Given the description of an element on the screen output the (x, y) to click on. 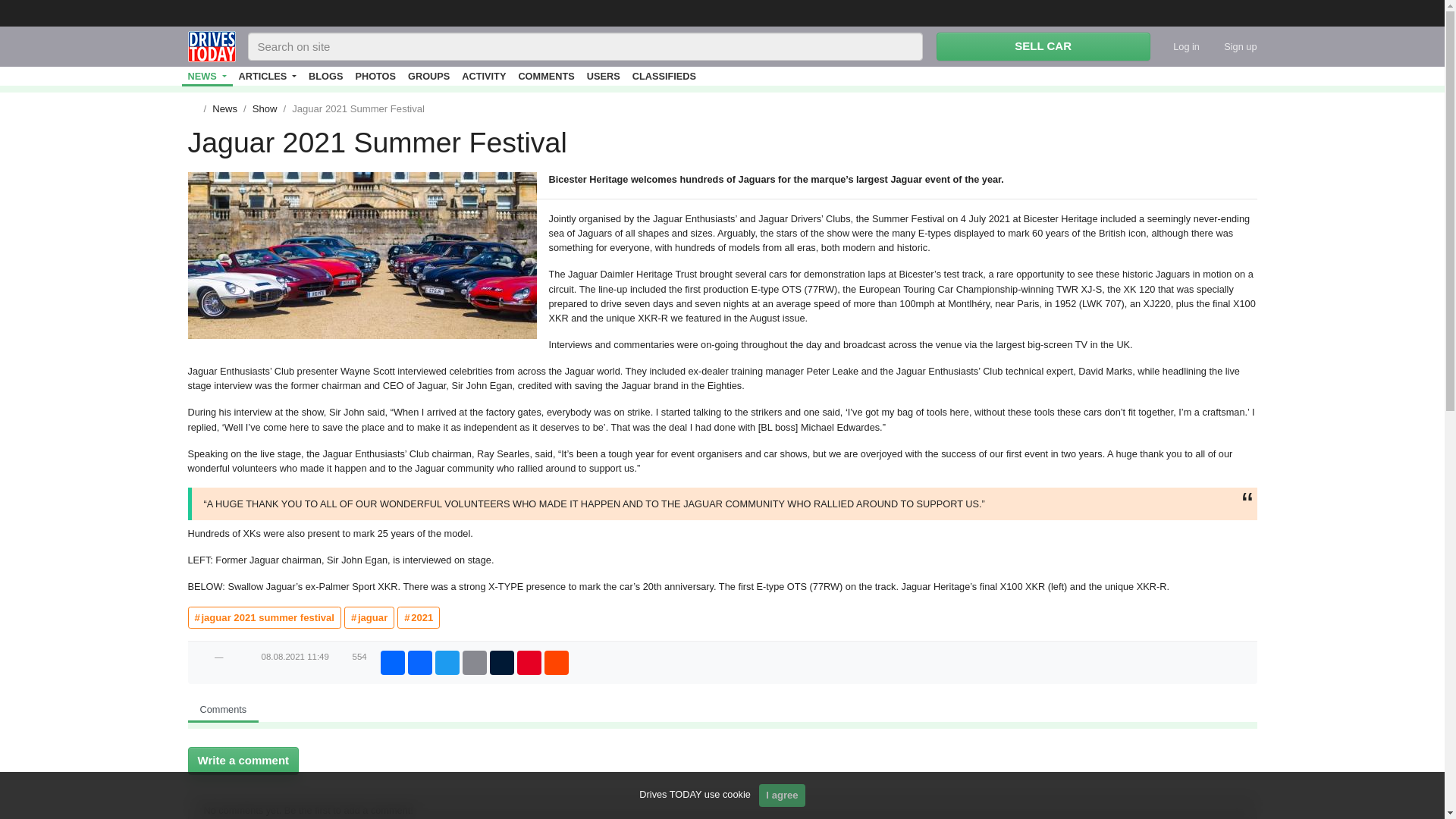
SELL CAR (1043, 46)
NEWS (207, 76)
Log in (1179, 46)
News (207, 76)
Sign up (1228, 46)
Sign up (1228, 46)
Log in (1179, 46)
ARTICLES (267, 76)
